Given the description of an element on the screen output the (x, y) to click on. 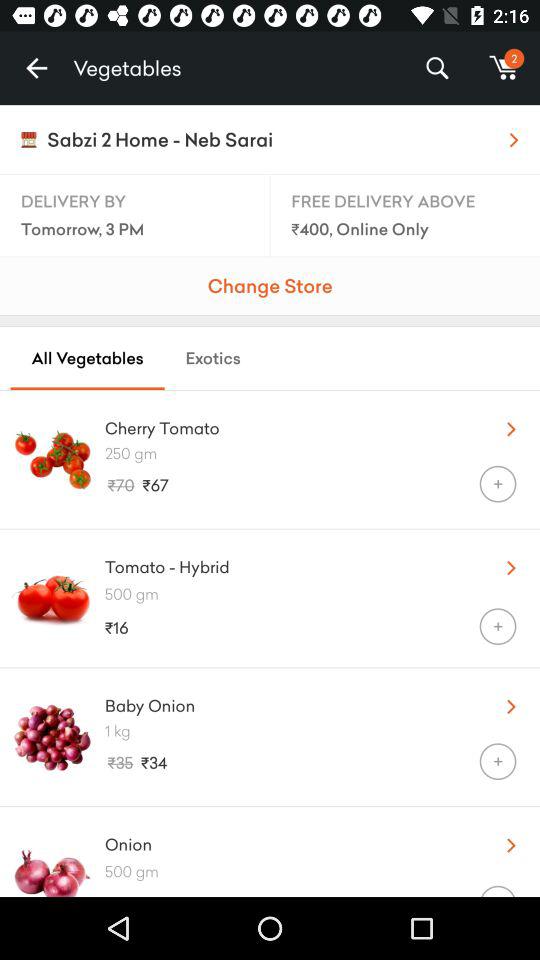
swipe until m item (503, 67)
